Given the description of an element on the screen output the (x, y) to click on. 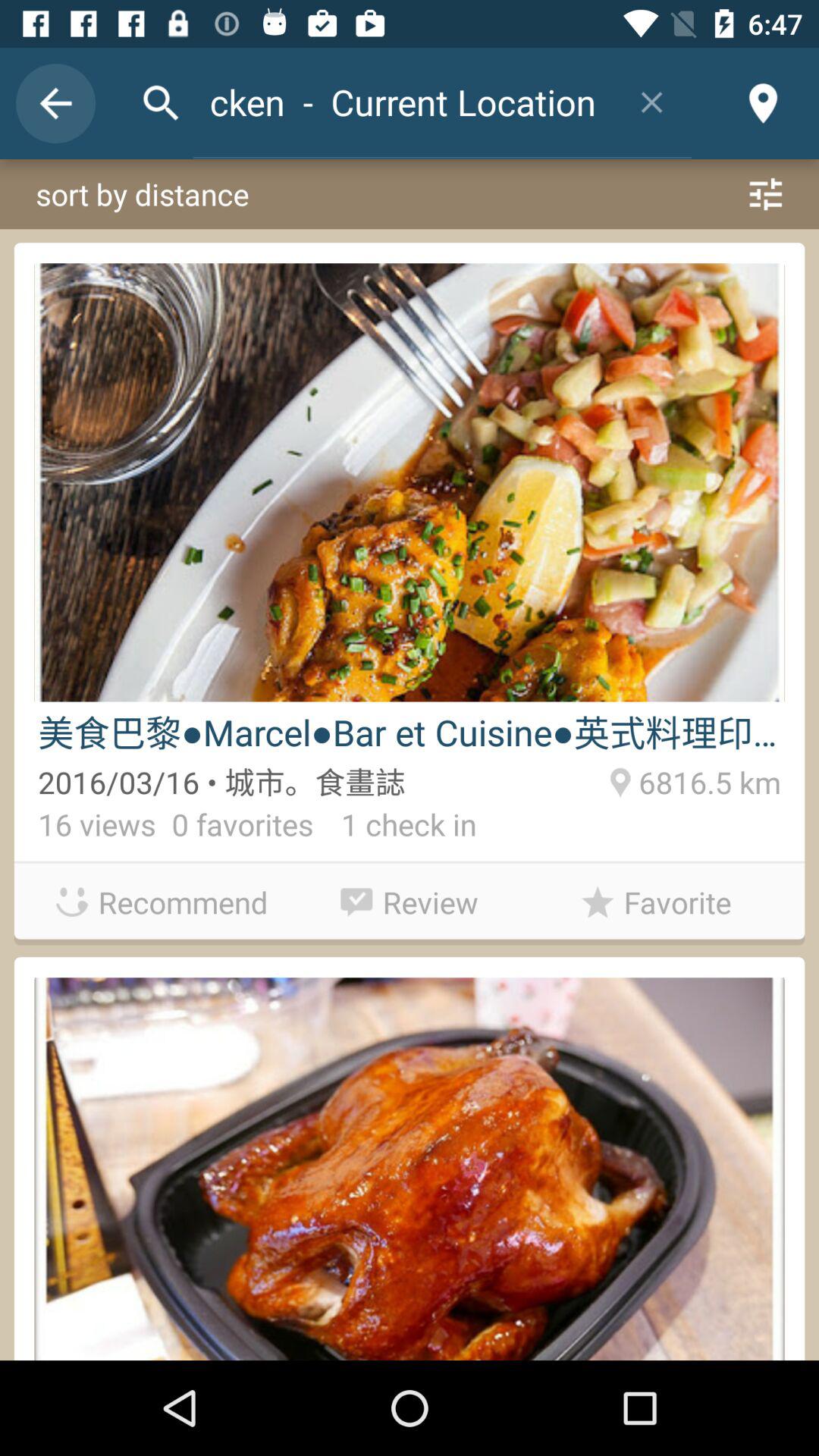
turn off the icon above the sort by distance item (651, 101)
